Given the description of an element on the screen output the (x, y) to click on. 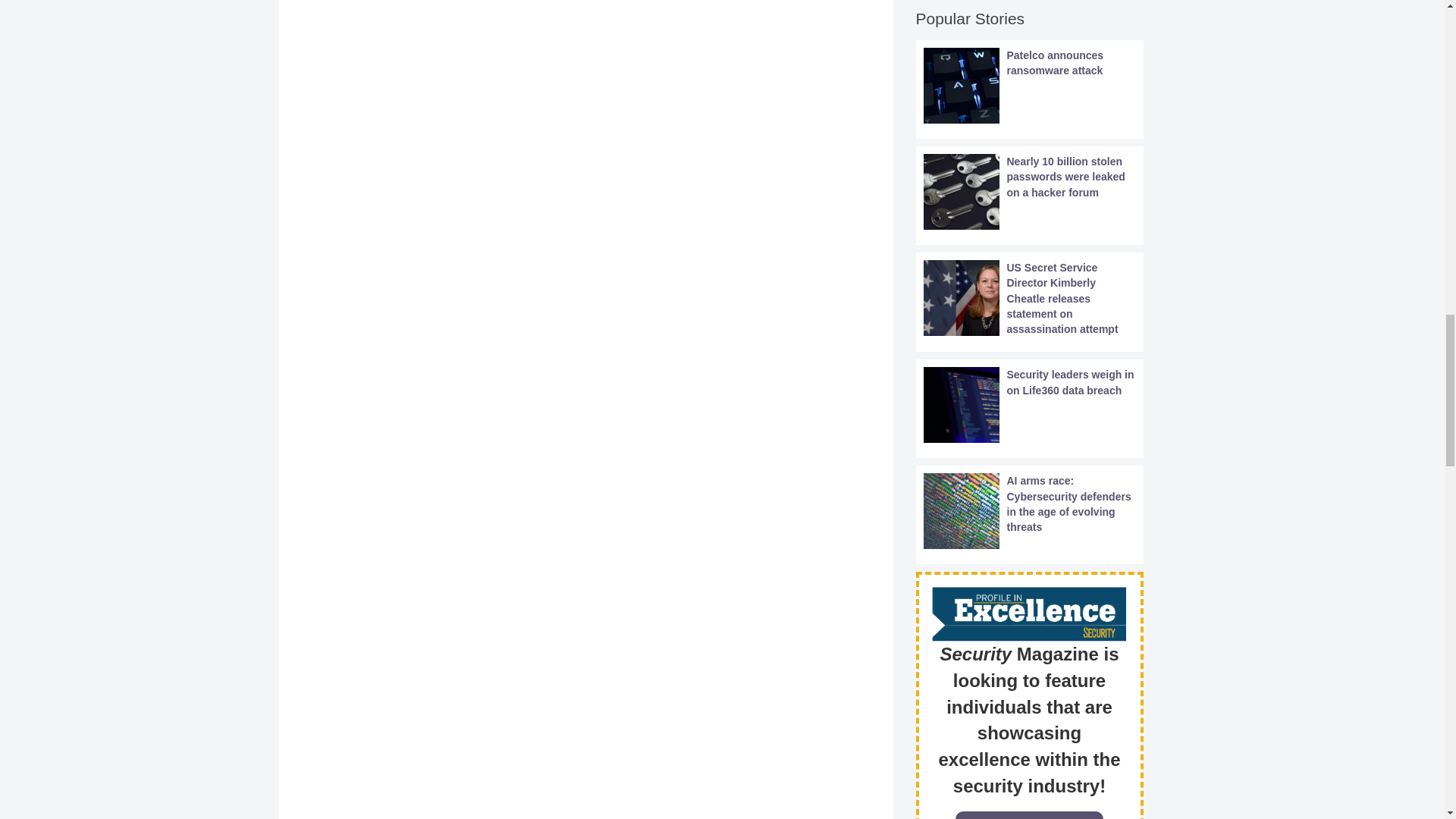
Security leaders weigh in on Life360 data breach (1029, 404)
Patelco announces ransomware attack (1029, 85)
